Given the description of an element on the screen output the (x, y) to click on. 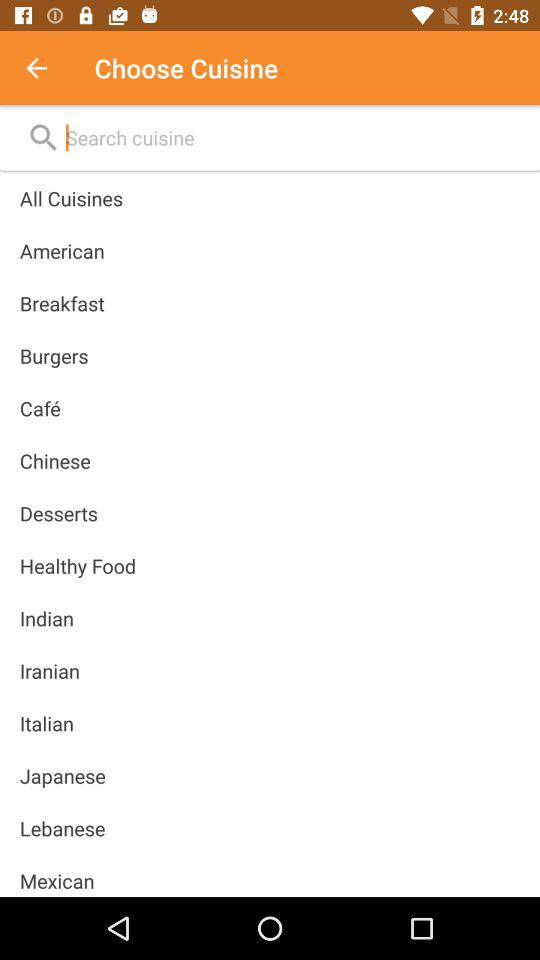
type cuisine (47, 68)
